Given the description of an element on the screen output the (x, y) to click on. 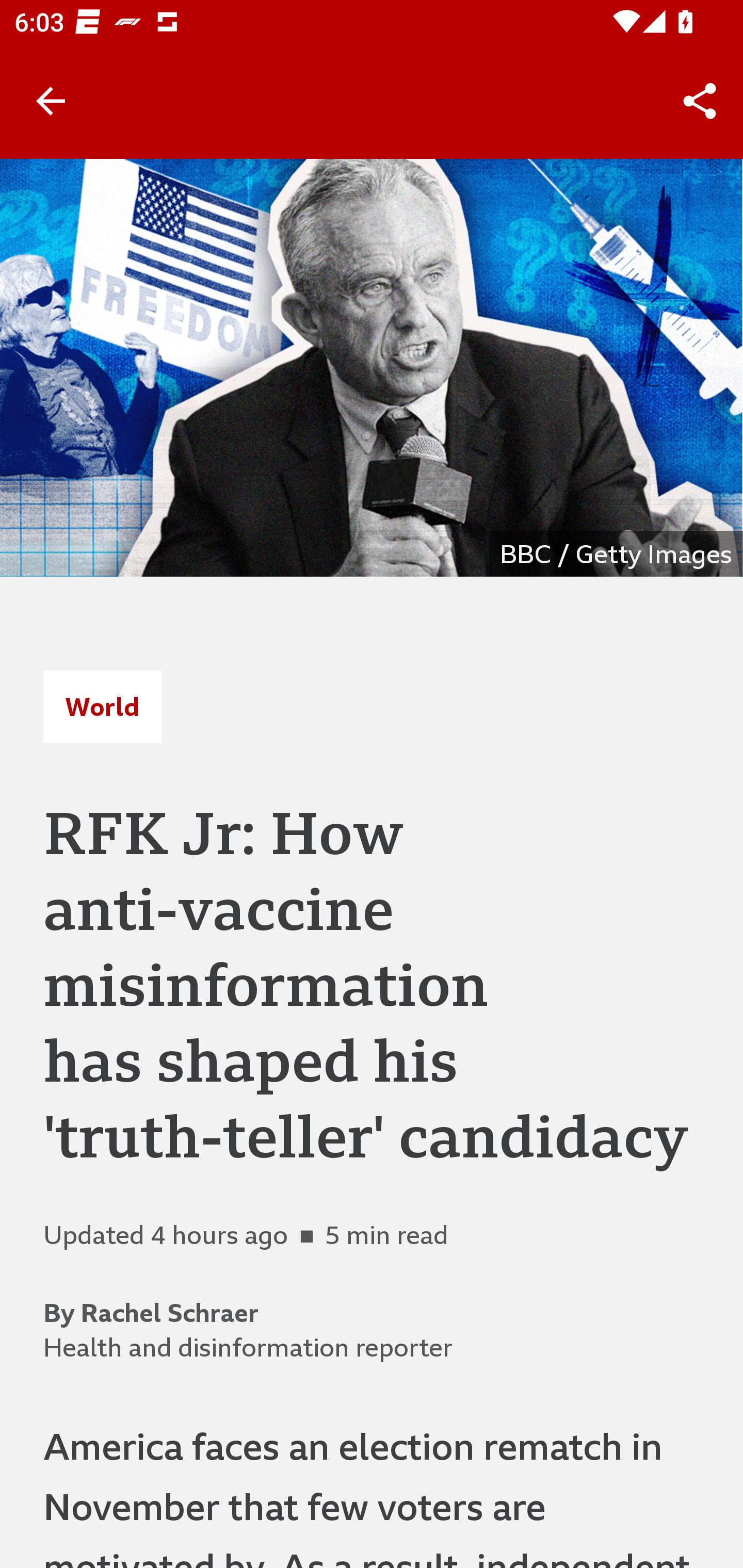
Back (50, 101)
Share (699, 101)
World (102, 706)
